Given the description of an element on the screen output the (x, y) to click on. 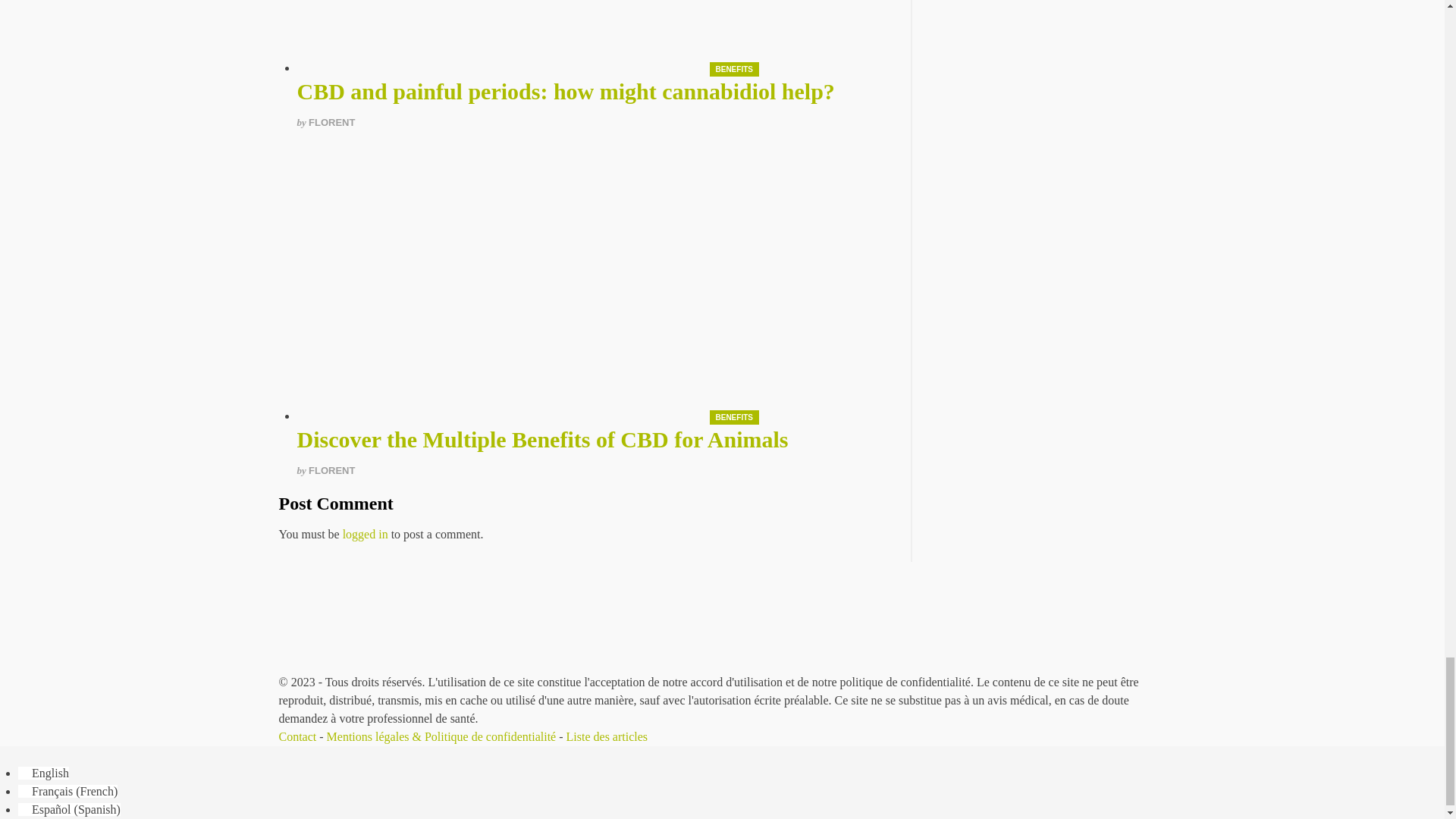
FLORENT (331, 122)
CBD and painful periods: how might cannabidiol help? (565, 91)
BENEFITS (734, 69)
